Given the description of an element on the screen output the (x, y) to click on. 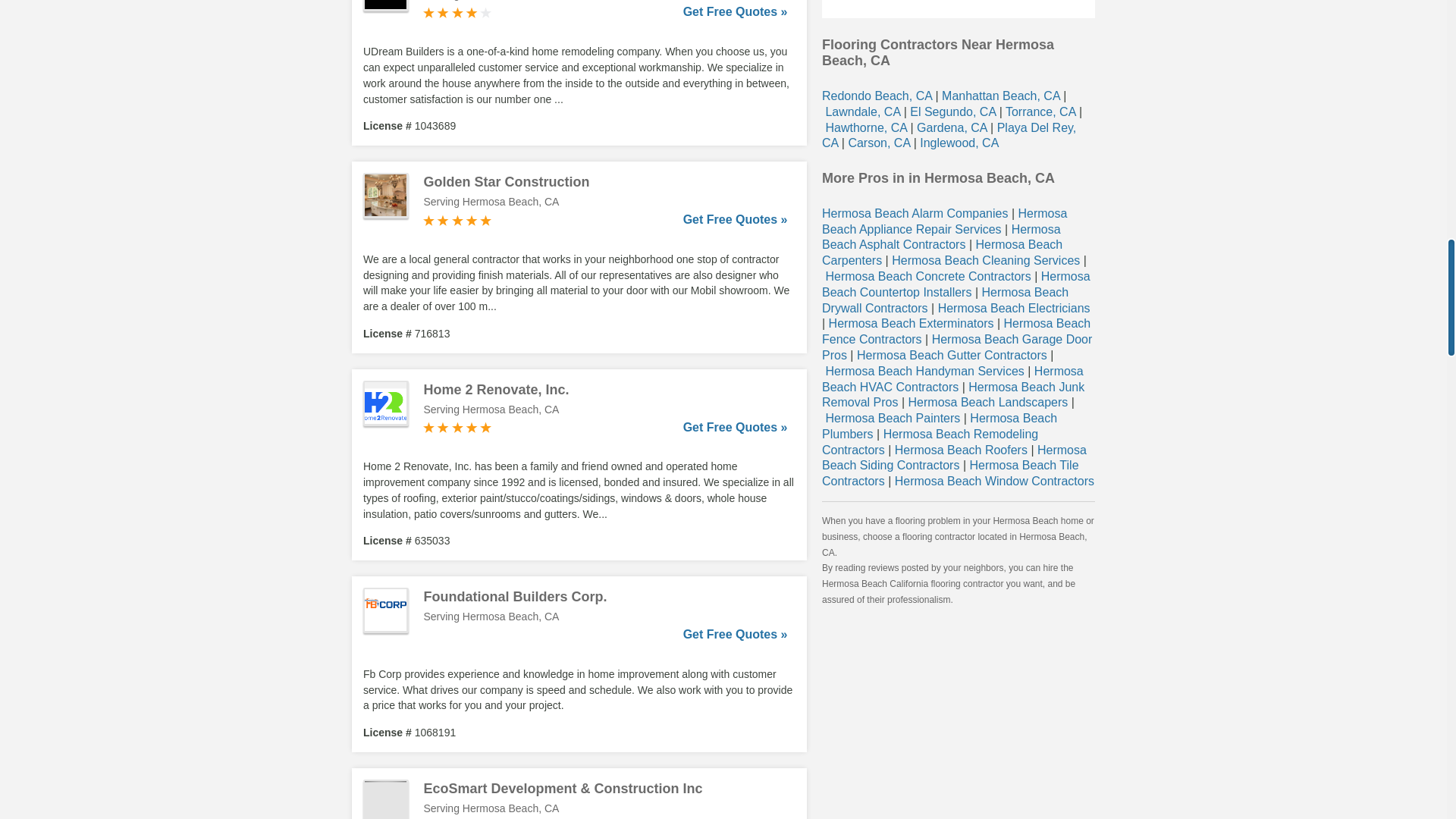
5 star rating (457, 220)
5 star rating (457, 427)
4 star rating (457, 12)
